Given the description of an element on the screen output the (x, y) to click on. 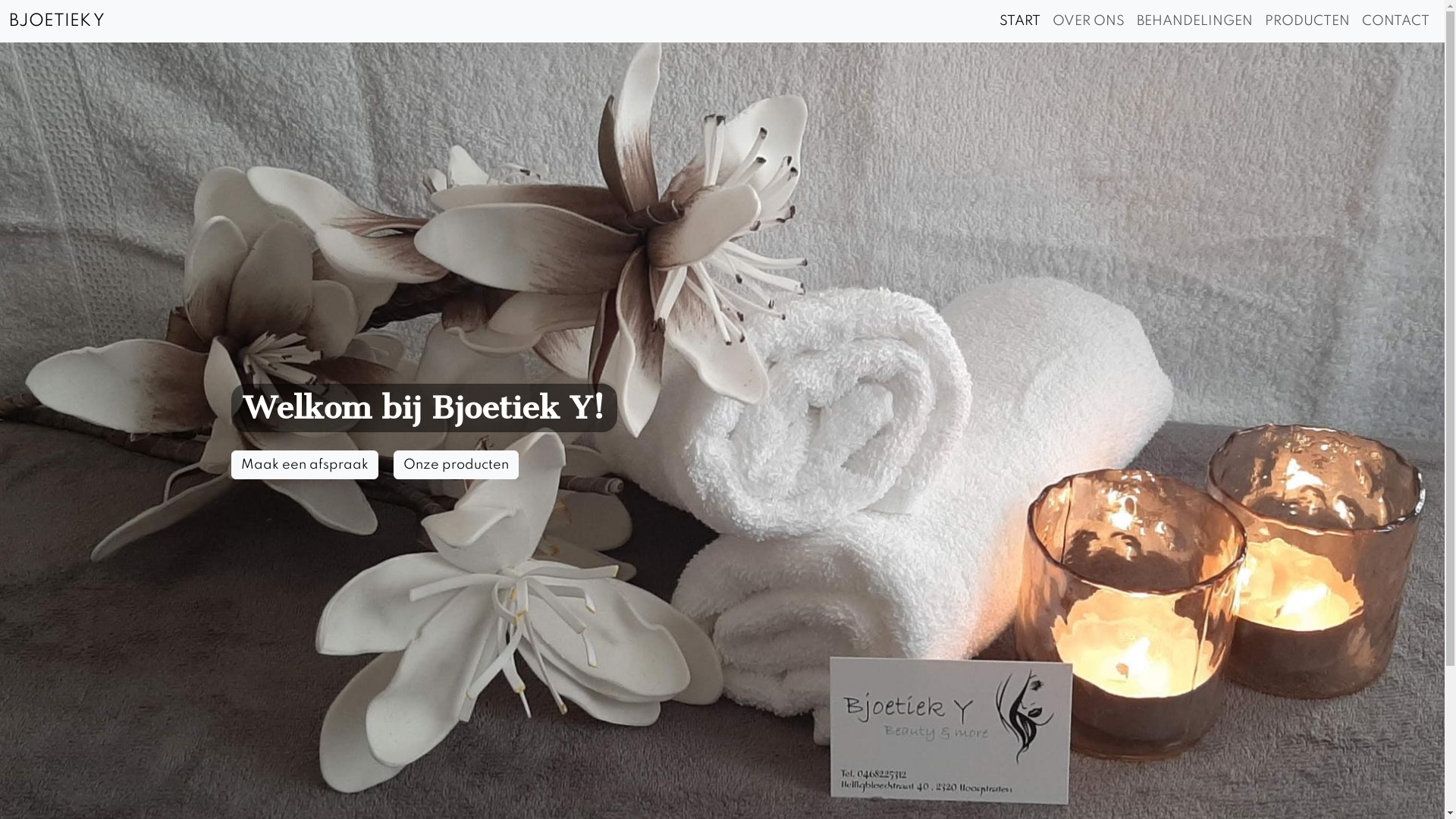
OVER ONS Element type: text (1088, 21)
Onze producten Element type: text (454, 464)
PRODUCTEN Element type: text (1306, 21)
START Element type: text (1019, 21)
BJOETIEK Y Element type: text (56, 21)
CONTACT Element type: text (1395, 21)
Maak een afspraak Element type: text (303, 464)
BEHANDELINGEN Element type: text (1194, 21)
